Given the description of an element on the screen output the (x, y) to click on. 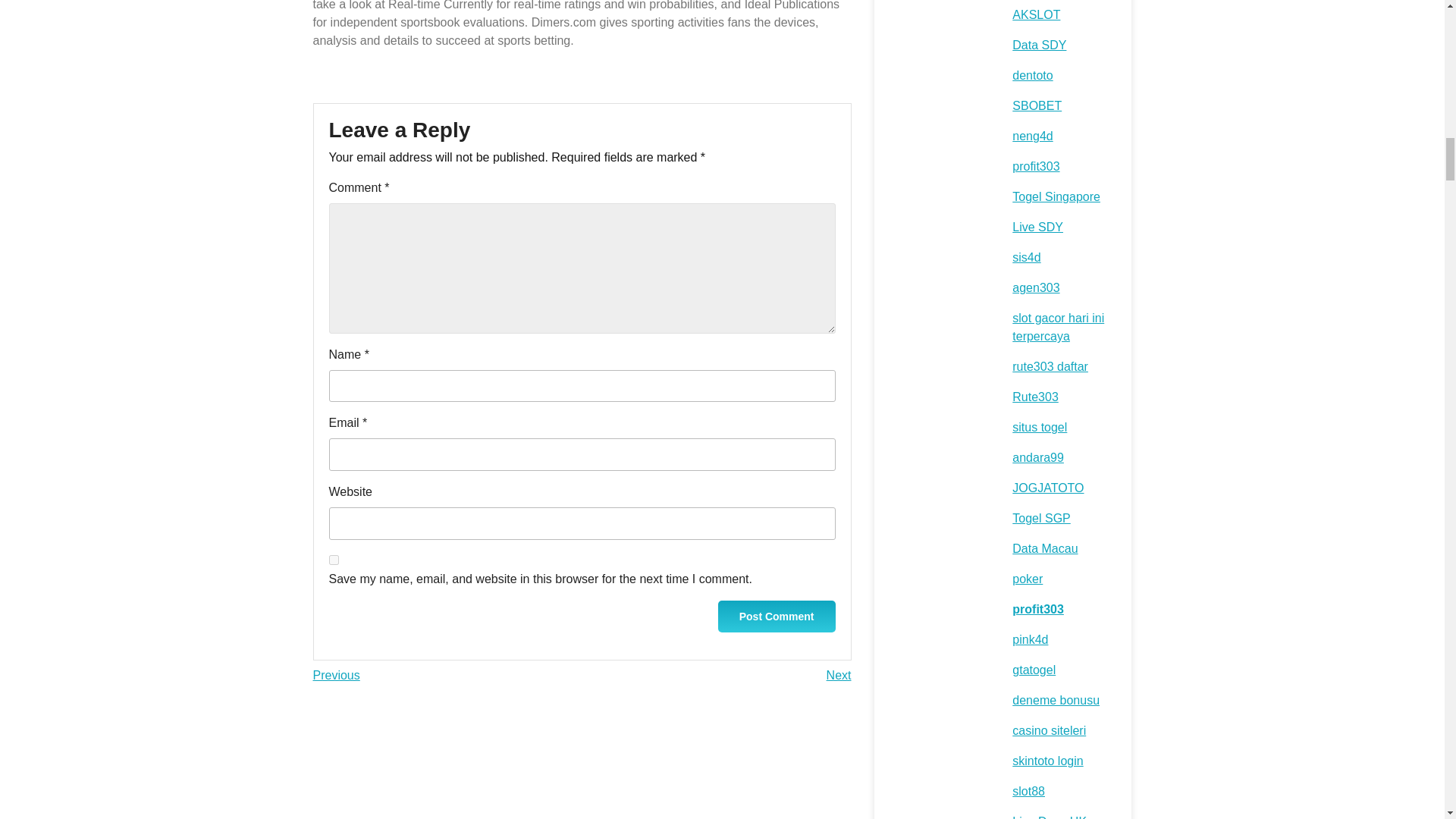
Post Comment (776, 616)
yes (336, 675)
Post Comment (839, 675)
